Given the description of an element on the screen output the (x, y) to click on. 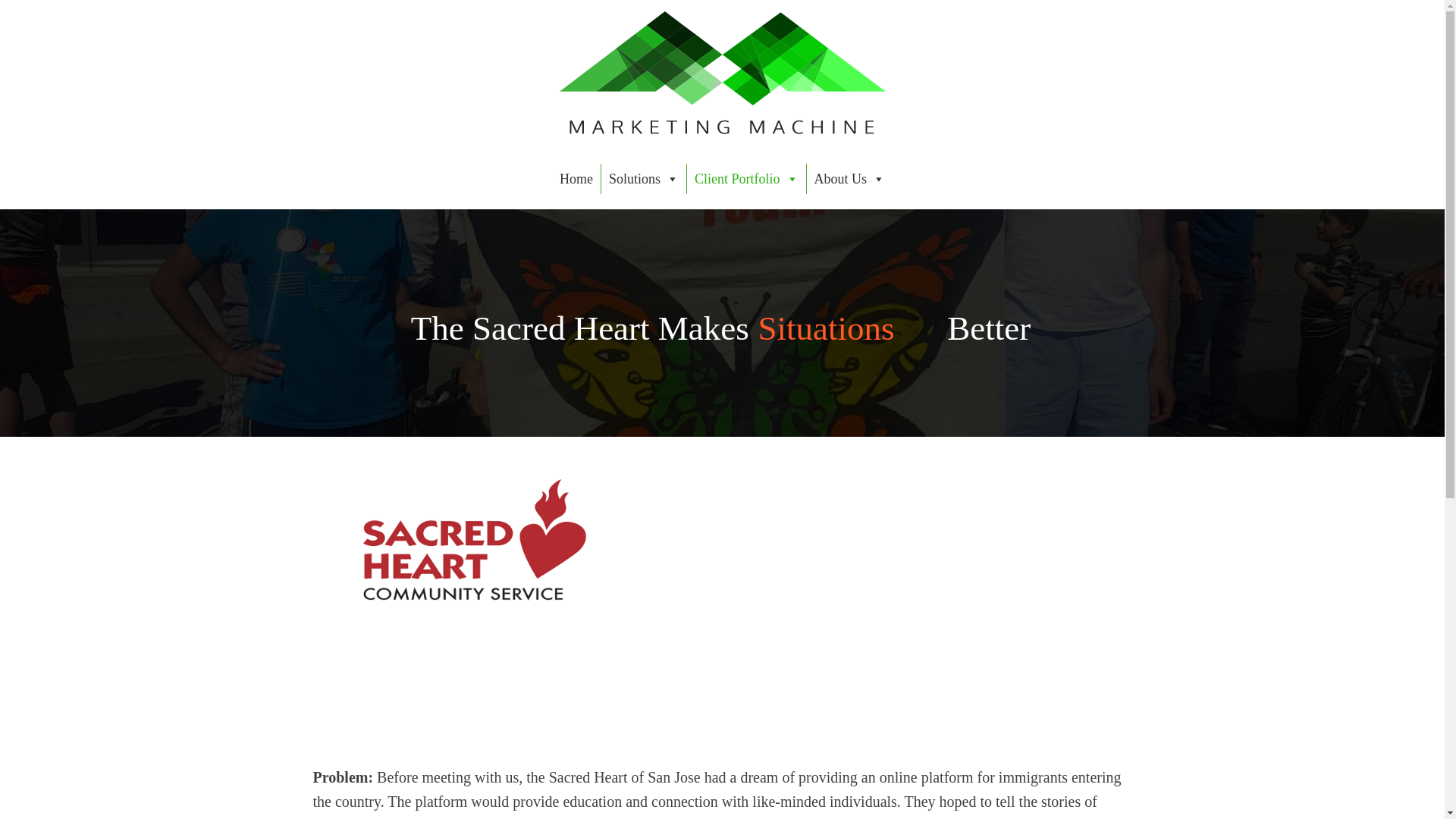
About Us (849, 178)
Client Portfolio (746, 178)
Solutions (643, 178)
Home (575, 178)
